Given the description of an element on the screen output the (x, y) to click on. 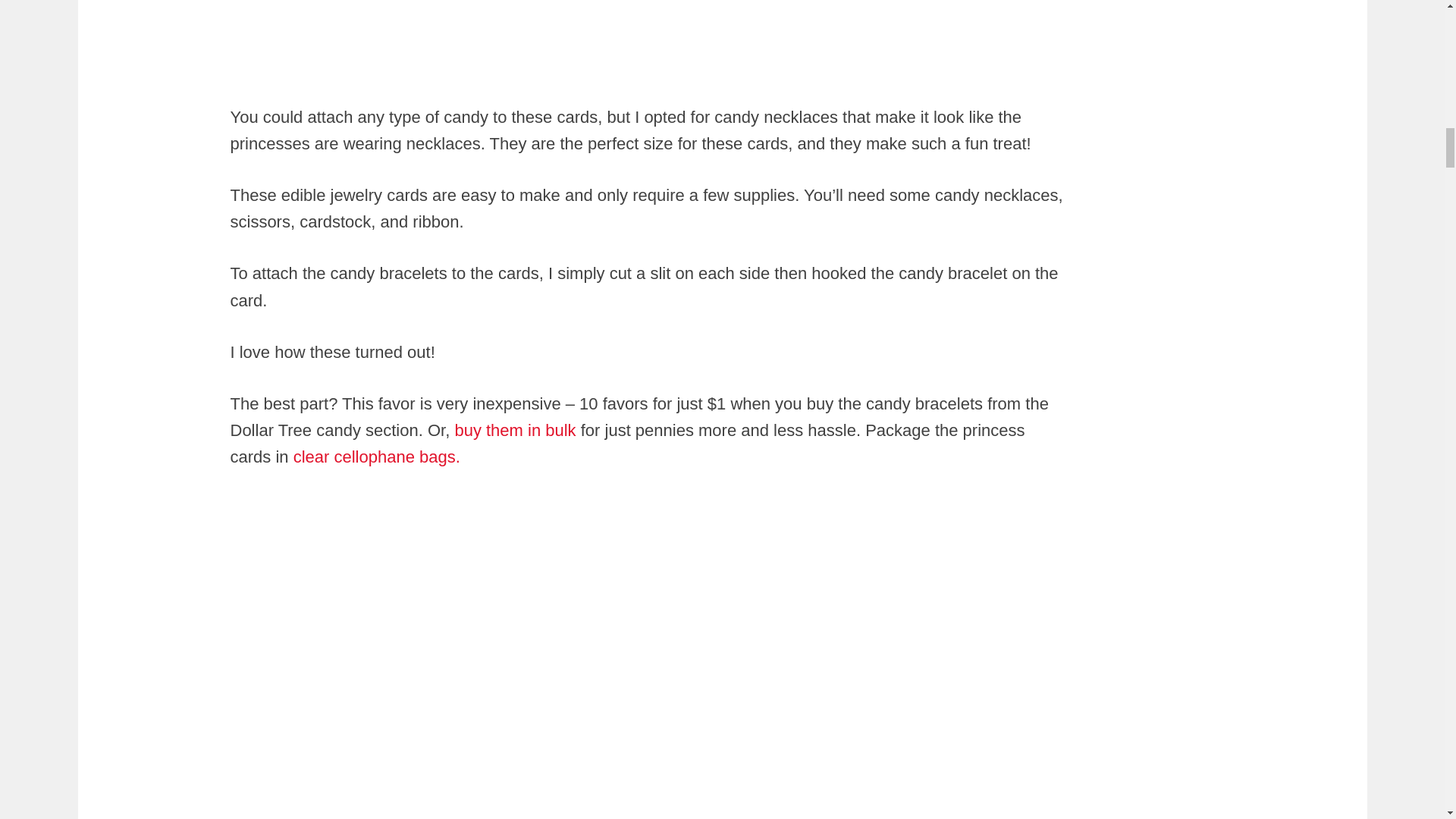
buy them in bulk (512, 429)
clear cellophane bags. (374, 456)
